Given the description of an element on the screen output the (x, y) to click on. 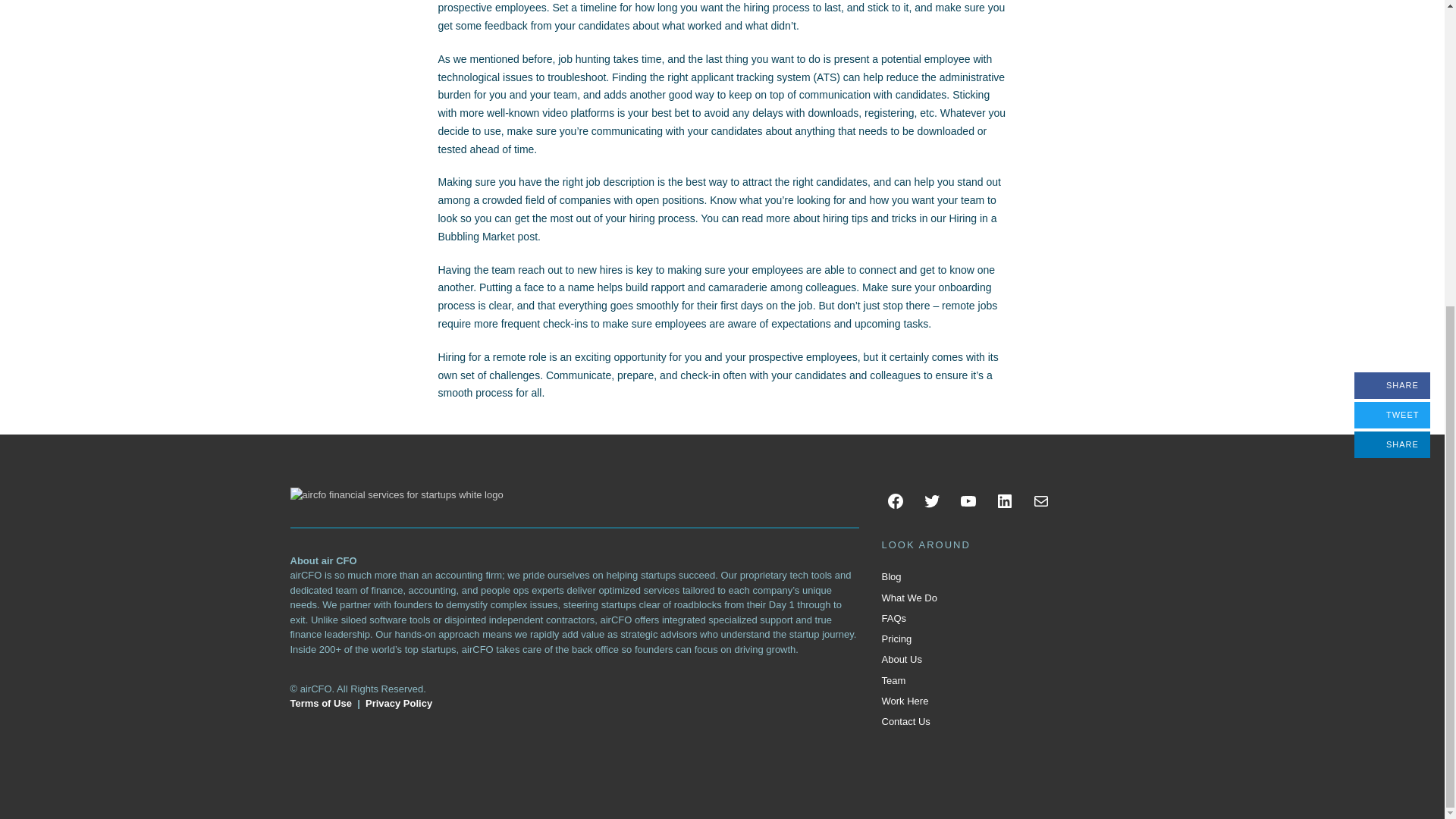
Twitter (930, 501)
YouTube (967, 501)
Mail (1040, 501)
LinkedIn (1003, 501)
Facebook (894, 501)
Terms of Use (319, 703)
Privacy Policy (398, 703)
